Given the description of an element on the screen output the (x, y) to click on. 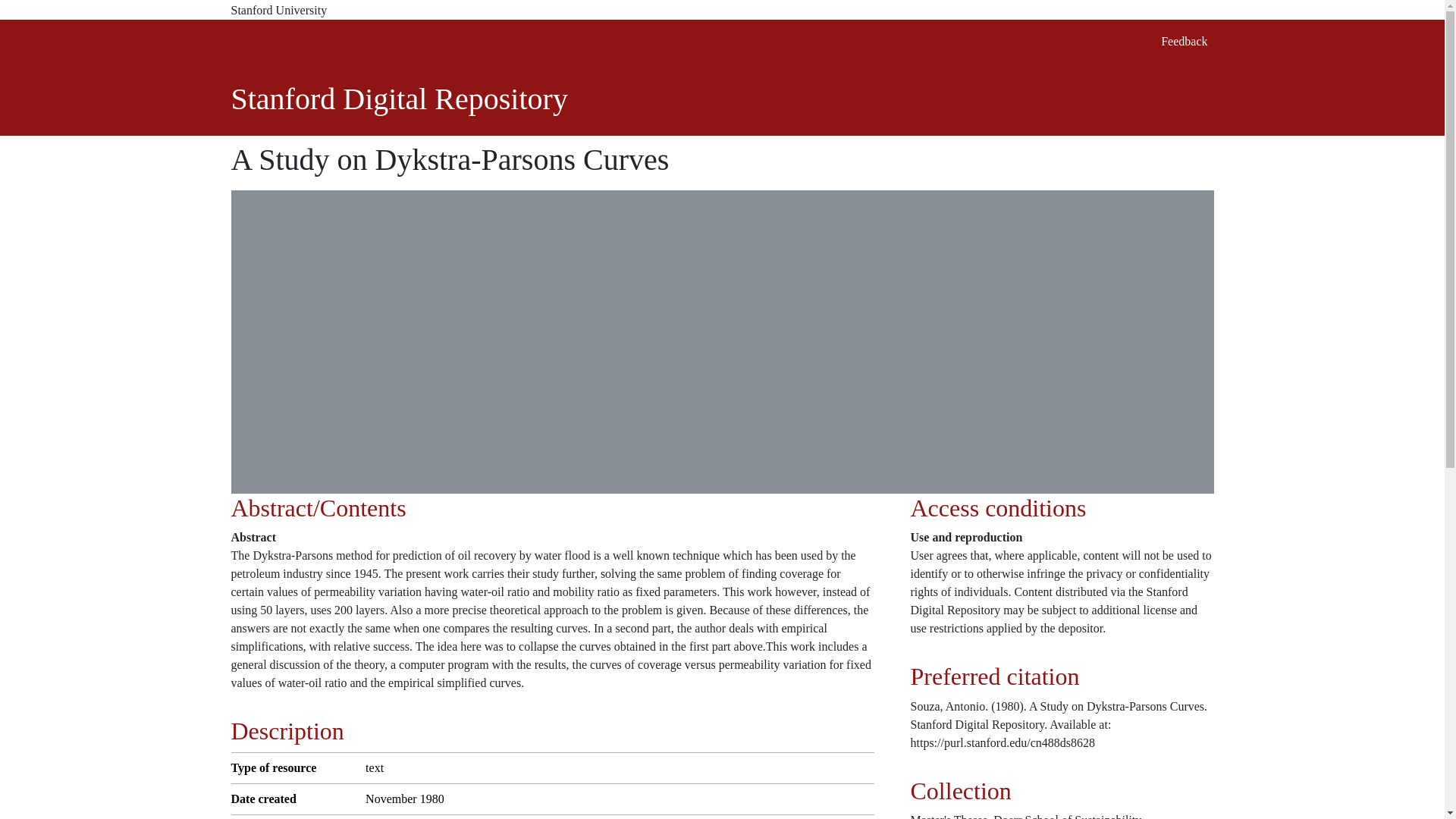
Stanford Digital Repository (398, 98)
Stanford Libraries (328, 40)
Feedback (1183, 40)
Stanford University (721, 10)
